Given the description of an element on the screen output the (x, y) to click on. 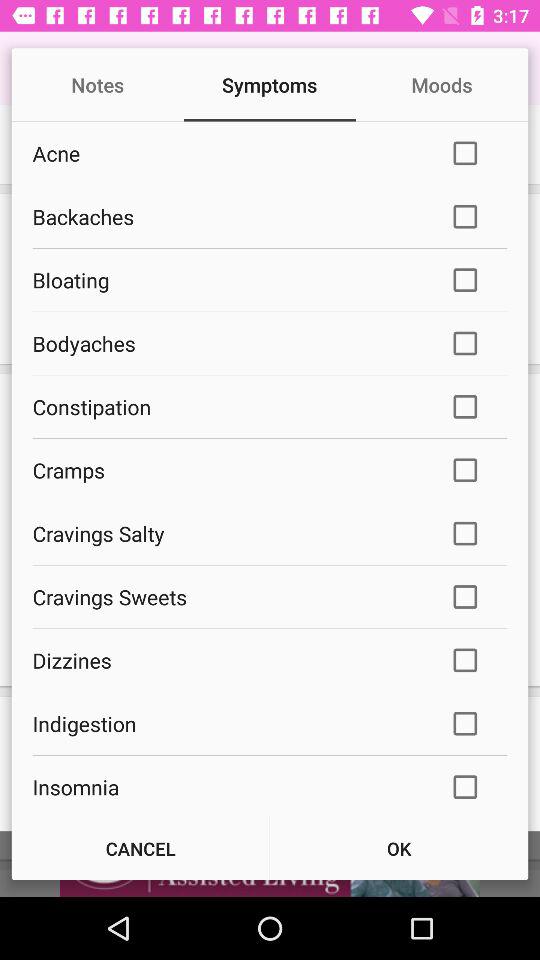
select icon below the acne (227, 216)
